Given the description of an element on the screen output the (x, y) to click on. 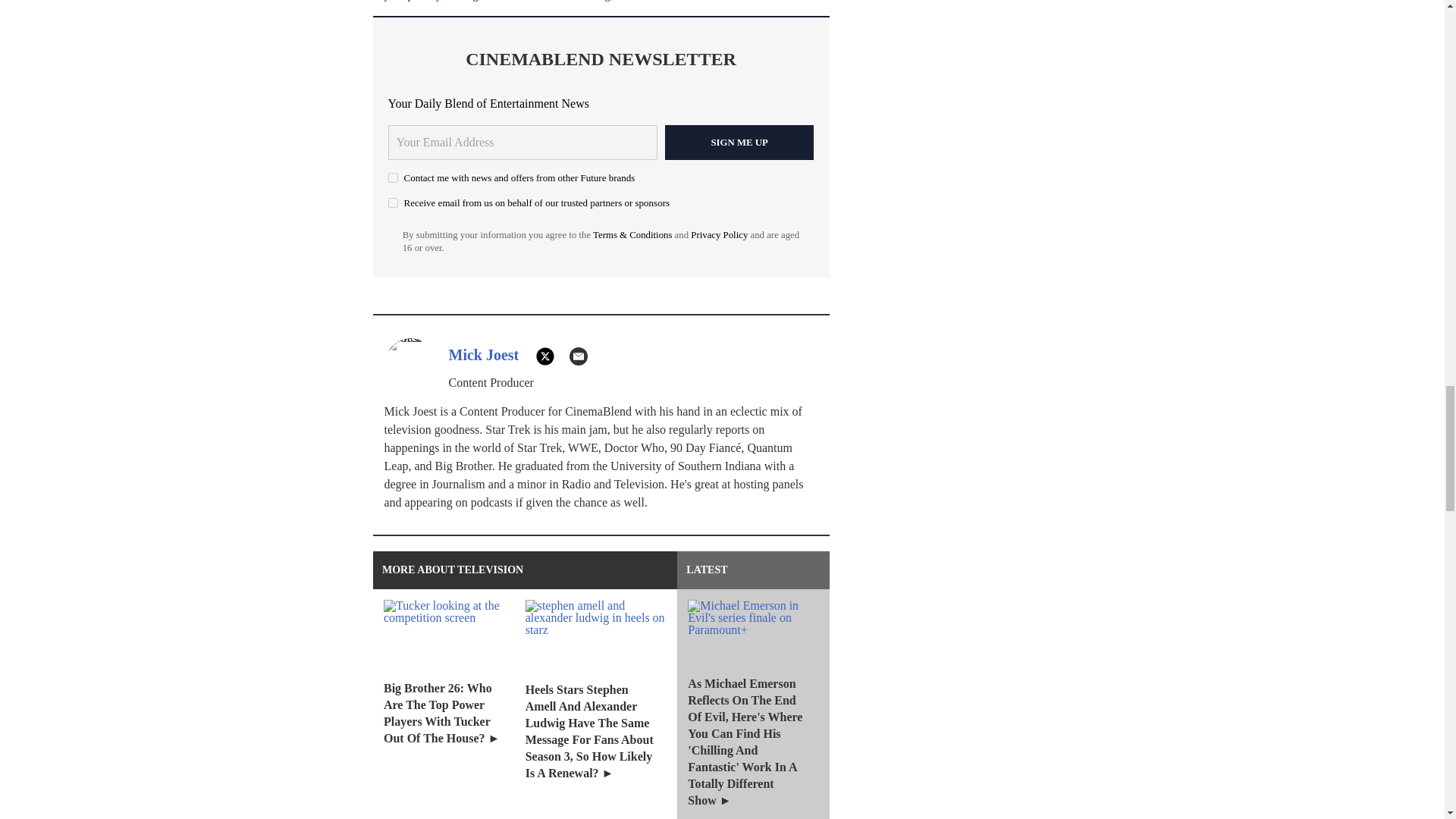
on (392, 177)
on (392, 203)
Sign me up (739, 142)
